Given the description of an element on the screen output the (x, y) to click on. 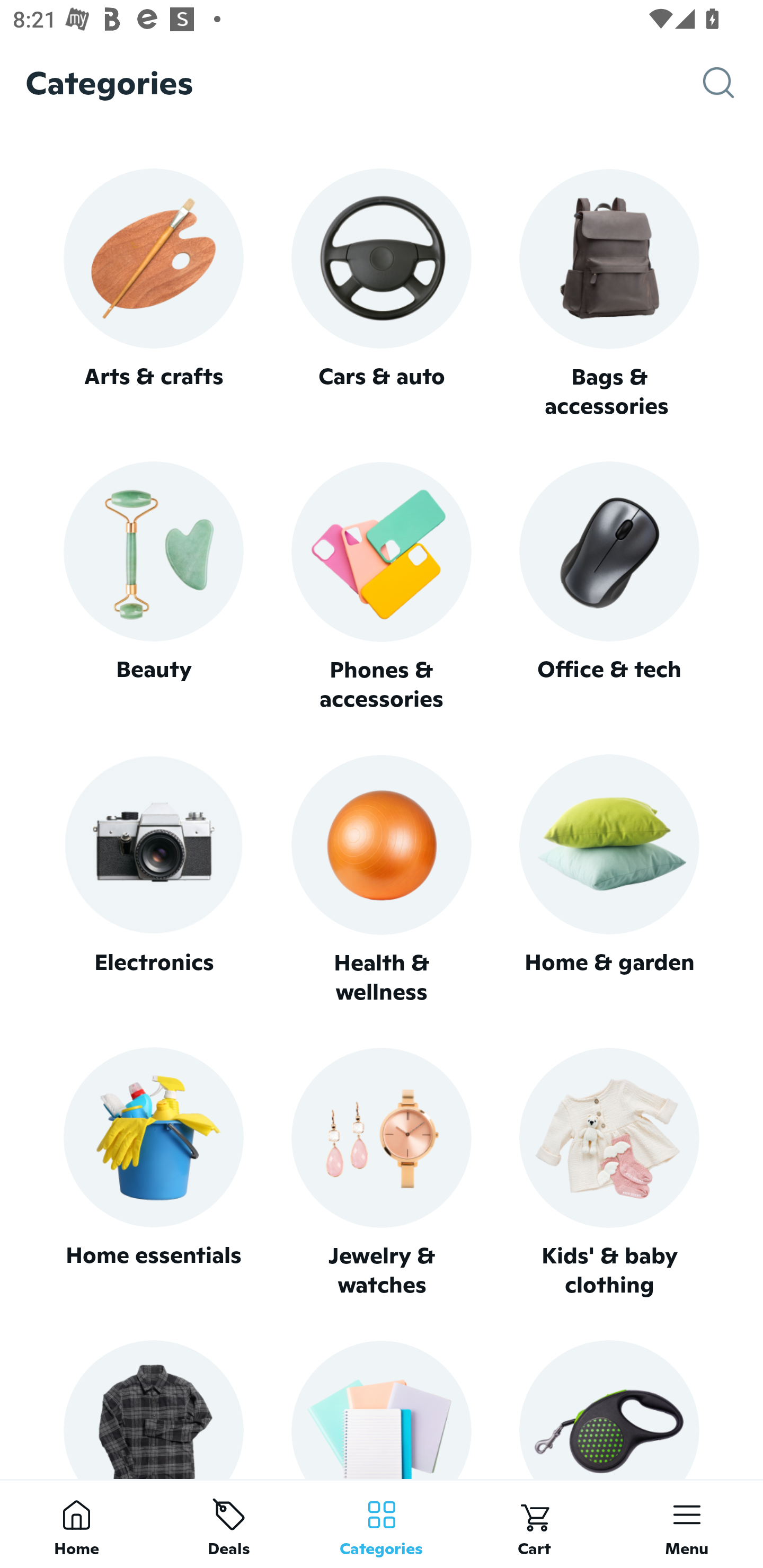
Search (732, 82)
Arts & crafts (153, 293)
Cars & auto (381, 293)
Bags & accessories  (609, 294)
Beauty (153, 586)
Office & tech (609, 586)
Phones & accessories (381, 587)
Electronics (153, 880)
Home & garden (609, 880)
Health & wellness (381, 880)
Home essentials (153, 1172)
Jewelry & watches (381, 1172)
Kids' & baby clothing (609, 1172)
Men's clothing (153, 1409)
Pet supplies (609, 1409)
Office & school supplies (381, 1409)
Home (76, 1523)
Deals (228, 1523)
Categories (381, 1523)
Cart (533, 1523)
Menu (686, 1523)
